Given the description of an element on the screen output the (x, y) to click on. 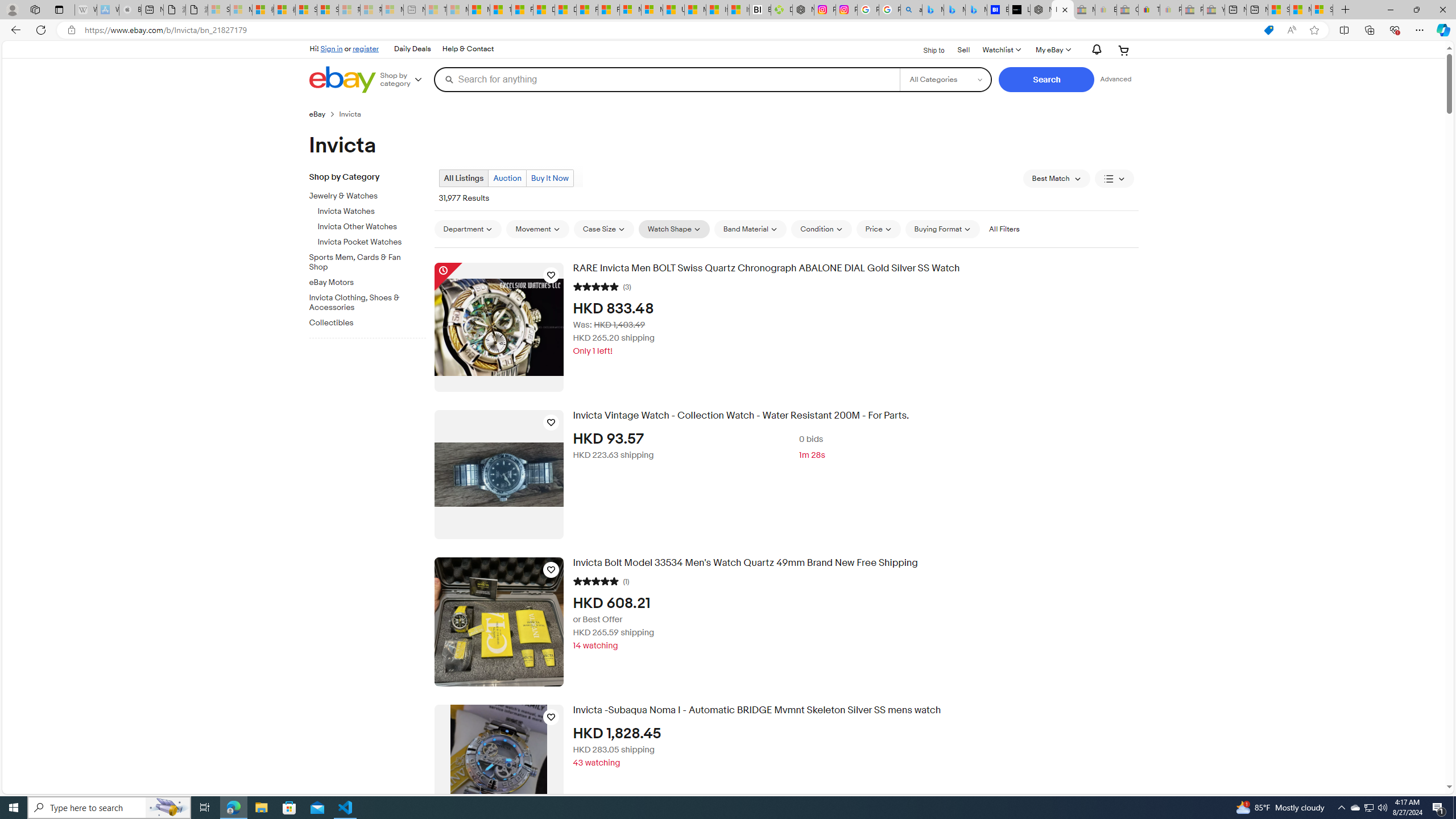
Microsoft Services Agreement - Sleeping (241, 9)
My eBay (1052, 49)
All Listings Current view (464, 178)
Buy It Now (549, 178)
Sell (963, 49)
5 out of 5 stars (595, 580)
Buy iPad - Apple - Sleeping (130, 9)
Collectibles (362, 322)
